Given the description of an element on the screen output the (x, y) to click on. 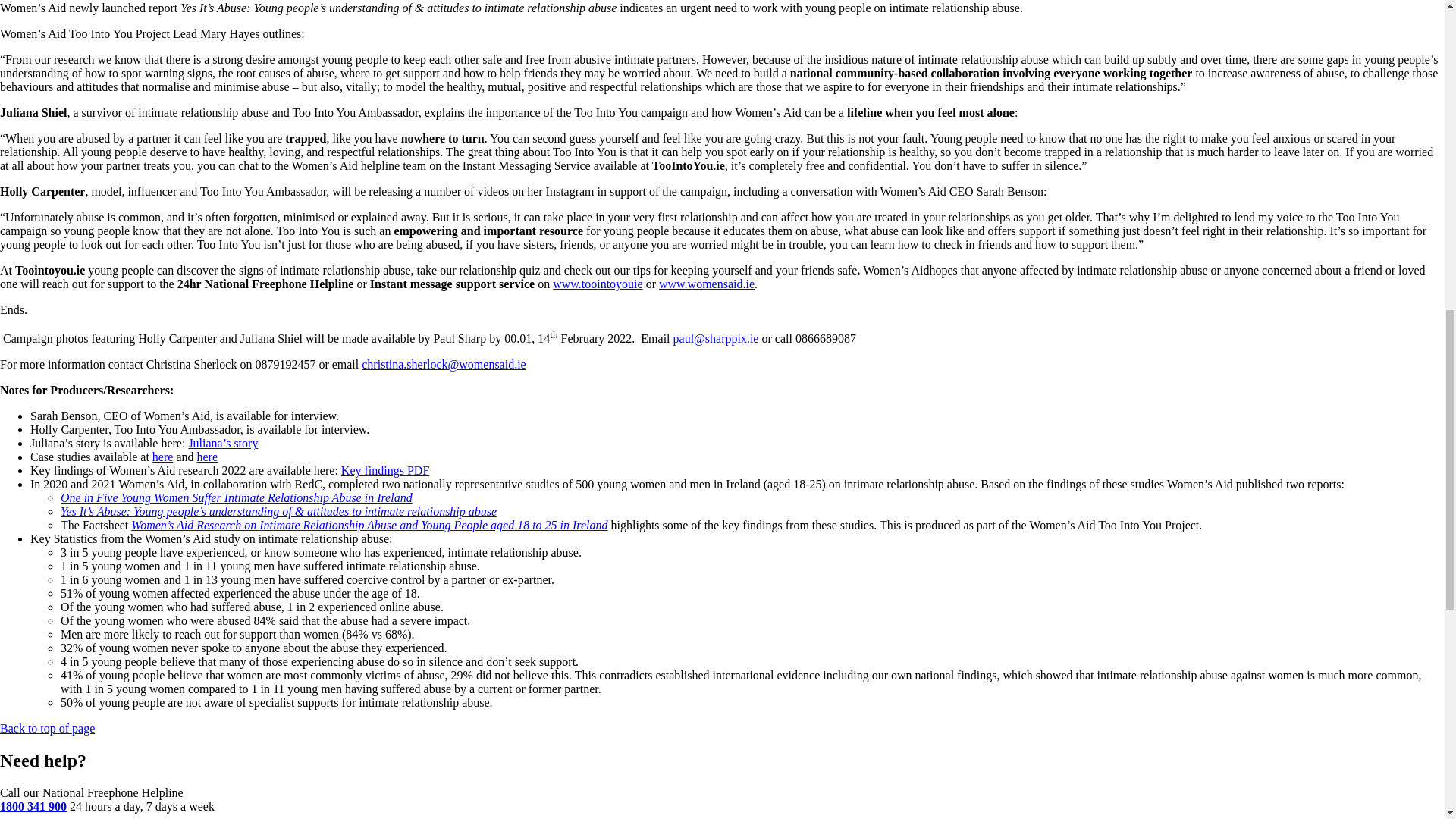
www.toointoyouie (598, 283)
www.womensaid.ie (706, 283)
here (162, 456)
1800 341 900 (33, 806)
Key findings PDF (384, 470)
Back to top of page (47, 727)
here (206, 456)
